Given the description of an element on the screen output the (x, y) to click on. 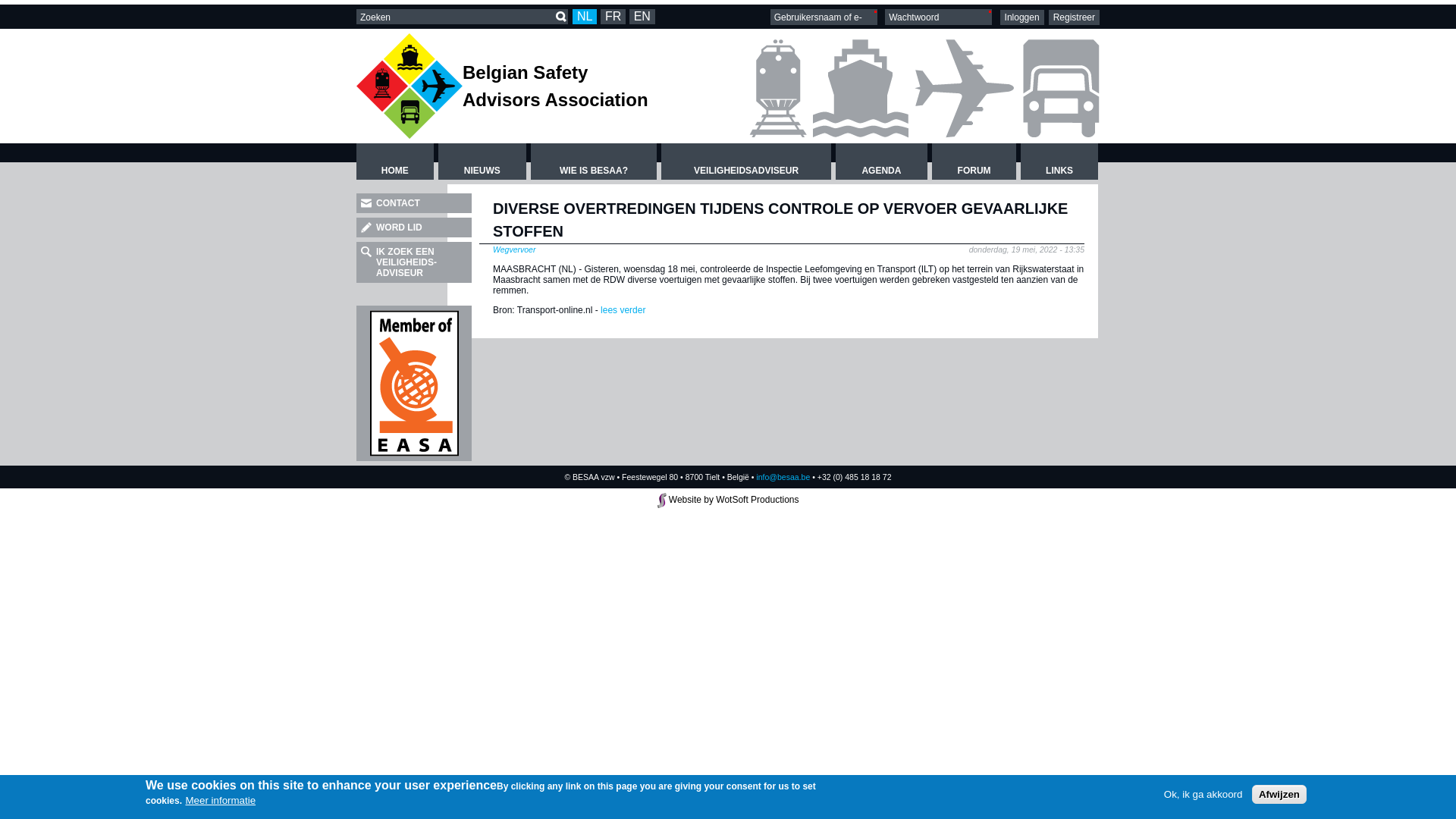
NL Element type: text (584, 16)
LINKS Element type: text (1059, 161)
AGENDA Element type: text (881, 161)
Inloggen Element type: text (1022, 17)
info@besaa.be Element type: text (782, 476)
VEILIGHEIDSADVISEUR Element type: text (746, 161)
Wegvervoer Element type: text (513, 249)
Home Element type: hover (409, 86)
WORD LID Element type: text (413, 227)
Zoeken Element type: text (560, 16)
EN Element type: text (642, 16)
Meer informatie Element type: text (220, 799)
HOME Element type: text (394, 161)
Ok, ik ga akkoord Element type: text (1202, 794)
Registreer Element type: text (1073, 17)
FORUM Element type: text (973, 161)
Afwijzen Element type: text (1279, 793)
CONTACT Element type: text (413, 203)
IK ZOEK EEN VEILIGHEIDS-ADVISEUR Element type: text (413, 261)
FR Element type: text (612, 16)
lees verder Element type: text (622, 309)
Belgian Safety
Advisors Association Element type: text (555, 85)
NIEUWS Element type: text (482, 161)
WotSoft Productions Element type: text (756, 499)
WIE IS BESAA? Element type: text (593, 161)
